Given the description of an element on the screen output the (x, y) to click on. 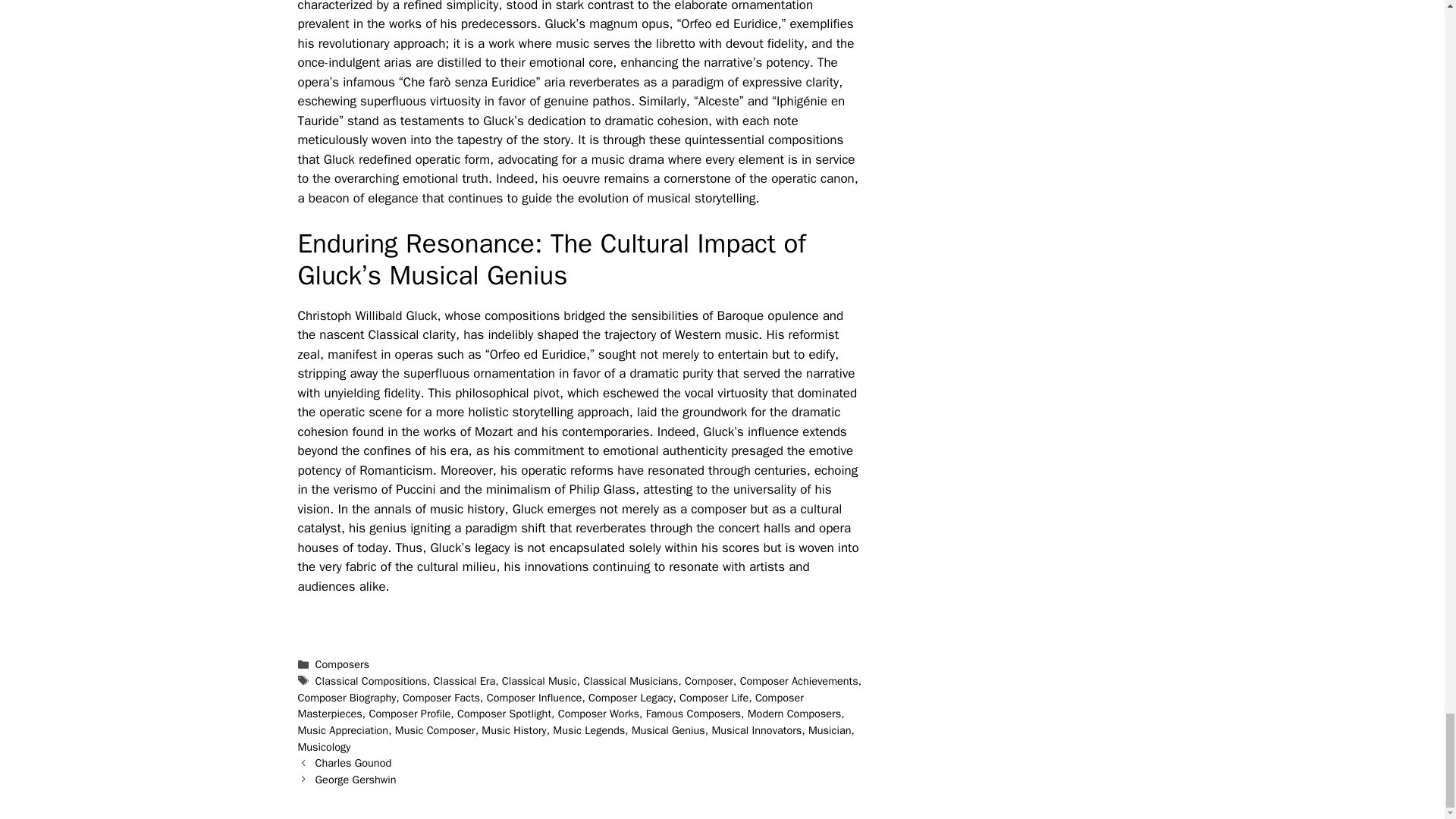
Composer Legacy (630, 697)
Composer Facts (441, 697)
Classical Era (464, 680)
Composer Life (713, 697)
Composers (342, 663)
Classical Compositions (370, 680)
Composer Achievements (799, 680)
Composer Influence (534, 697)
Classical Musicians (630, 680)
Composer Biography (346, 697)
Classical Music (539, 680)
Composer (708, 680)
